Given the description of an element on the screen output the (x, y) to click on. 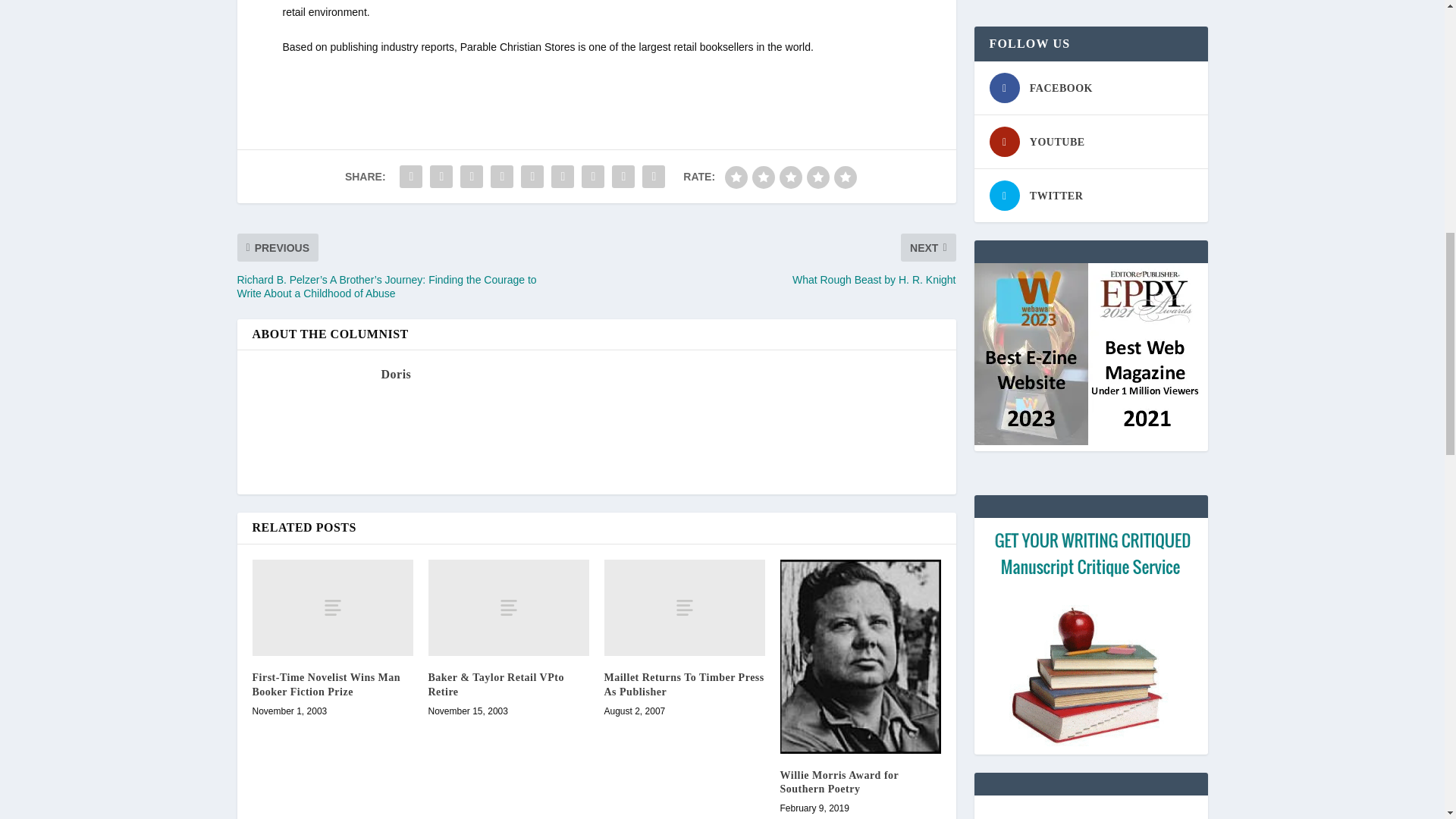
poor (763, 177)
bad (736, 177)
